Given the description of an element on the screen output the (x, y) to click on. 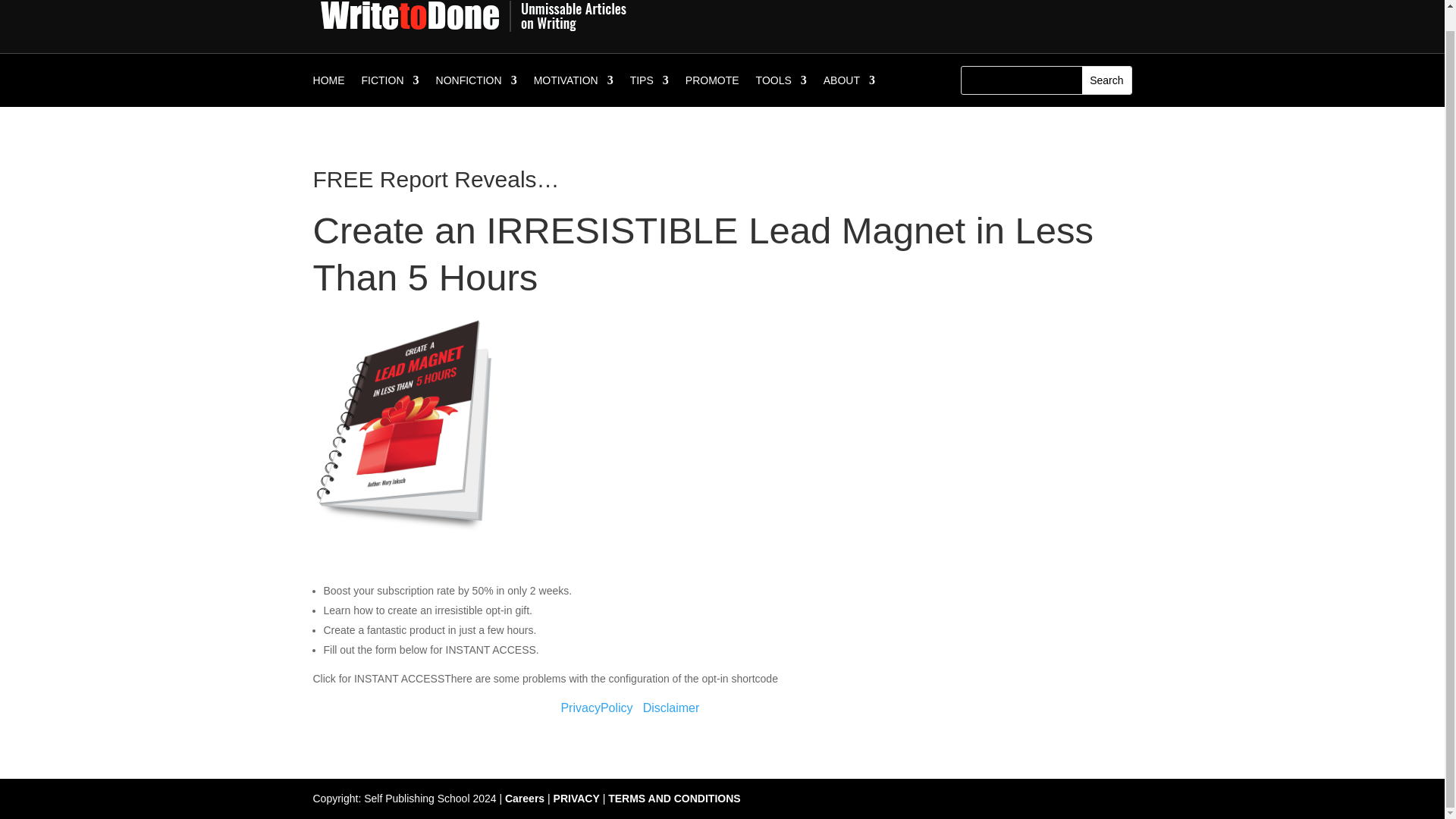
Disclaimer (671, 707)
TERMS AND CONDITIONS (673, 798)
TOOLS (780, 83)
PrivacyPolicy (595, 707)
FICTION (390, 83)
ABOUT (849, 83)
PROMOTE (712, 83)
HOME (329, 83)
PRIVACY (576, 798)
NONFICTION (475, 83)
Careers (524, 798)
Search (1106, 80)
MOTIVATION (573, 83)
Search (1106, 80)
Search (1106, 80)
